Given the description of an element on the screen output the (x, y) to click on. 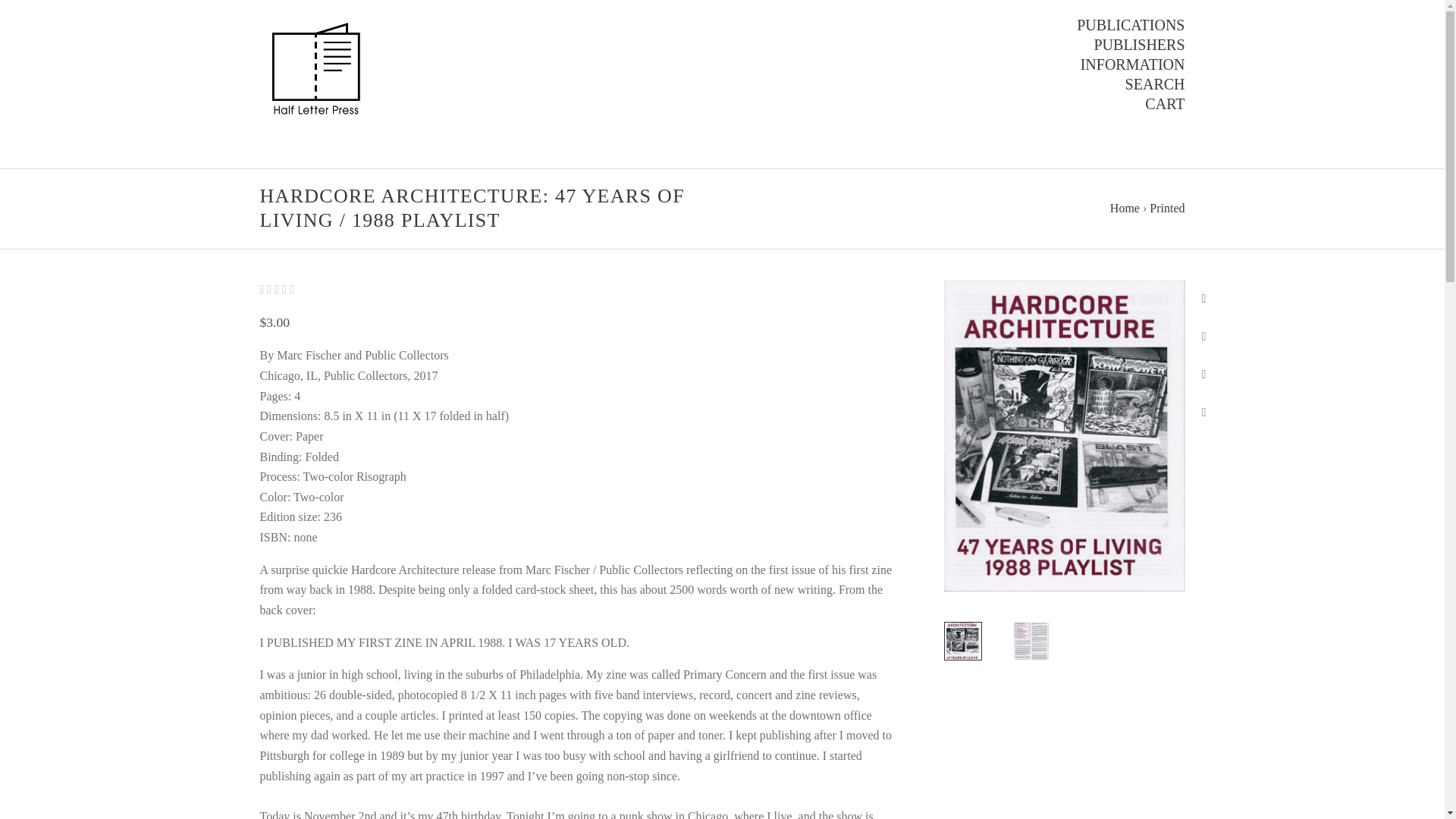
Printed (1167, 207)
INFORMATION (1132, 64)
SEARCH (1155, 84)
PUBLISHERS (1139, 44)
PUBLICATIONS (1131, 25)
Home (1124, 207)
CART (1164, 103)
